Given the description of an element on the screen output the (x, y) to click on. 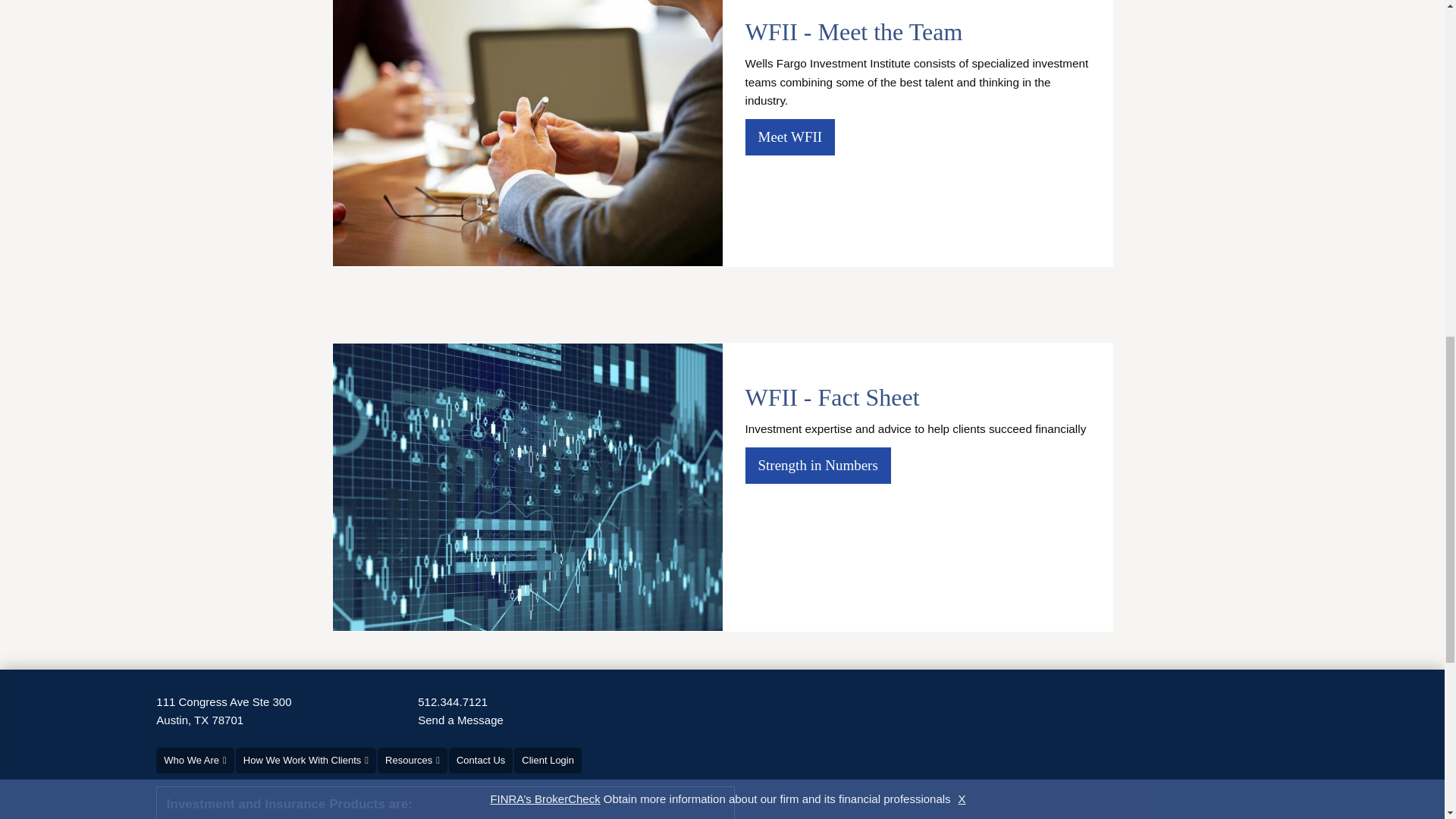
Meet WFII (789, 135)
Meet WFII (789, 136)
Strength in Numbers (223, 710)
Strength in Numbers (816, 465)
Who We Are (816, 465)
512.344.7121 (193, 760)
Send a Message (452, 701)
Meet WFII (460, 720)
Strength in Numbers (789, 136)
